Given the description of an element on the screen output the (x, y) to click on. 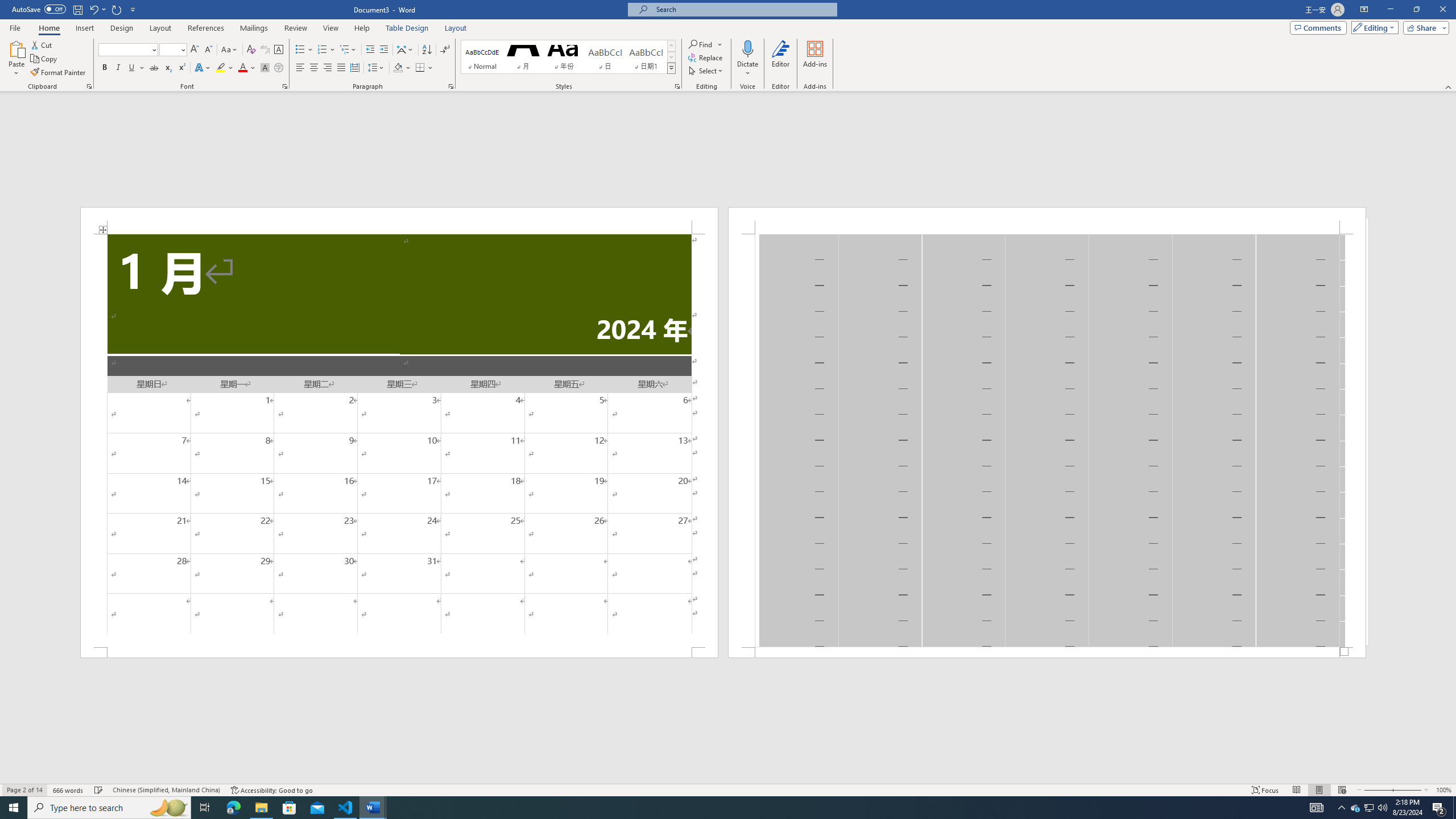
AutomationID: QuickStylesGallery (568, 56)
Page 2 content (1046, 440)
Editor (780, 58)
Multilevel List (347, 49)
Row up (670, 45)
Line and Paragraph Spacing (376, 67)
Font Color RGB(255, 0, 0) (241, 67)
Align Left (300, 67)
Accessibility Checker Accessibility: Good to go (271, 790)
